Given the description of an element on the screen output the (x, y) to click on. 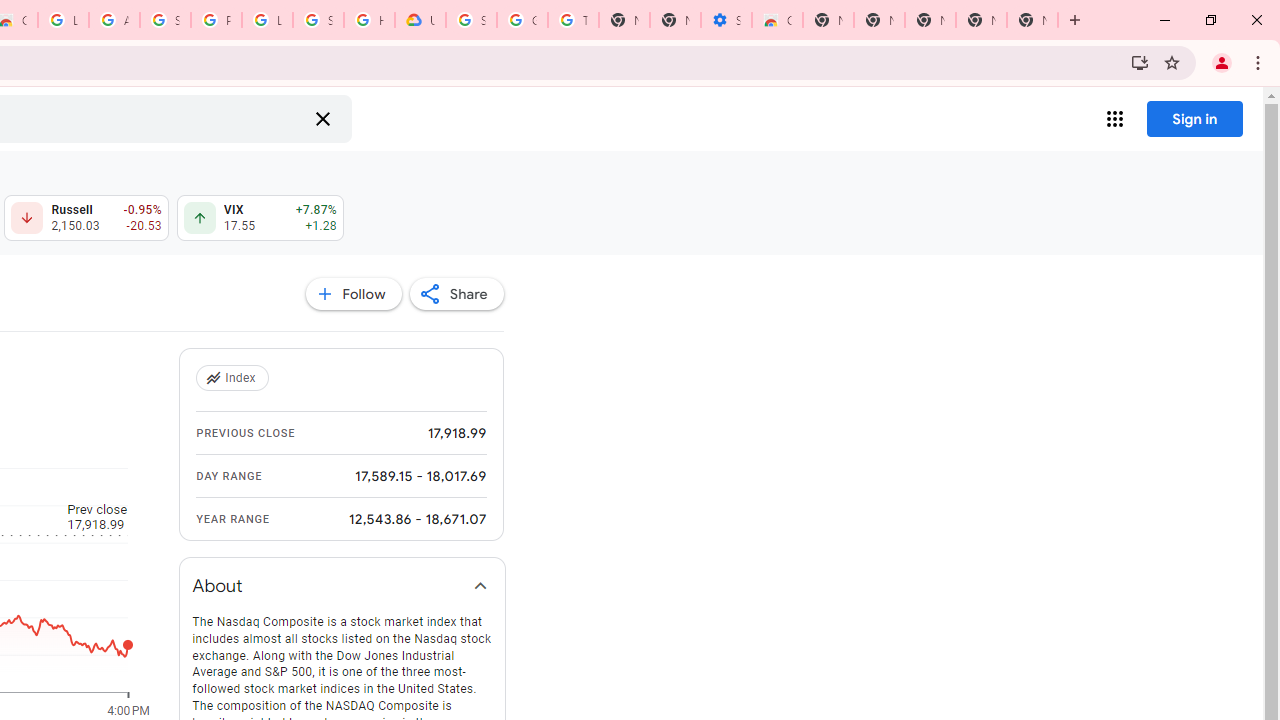
Follow (353, 293)
Ad Settings (113, 20)
Install Google Finance (1139, 62)
Turn cookies on or off - Computer - Google Account Help (573, 20)
About (342, 586)
VIX 17.55 Up by 7.87% +1.28 (260, 218)
Clear search (322, 118)
Chrome Web Store - Accessibility extensions (776, 20)
